Given the description of an element on the screen output the (x, y) to click on. 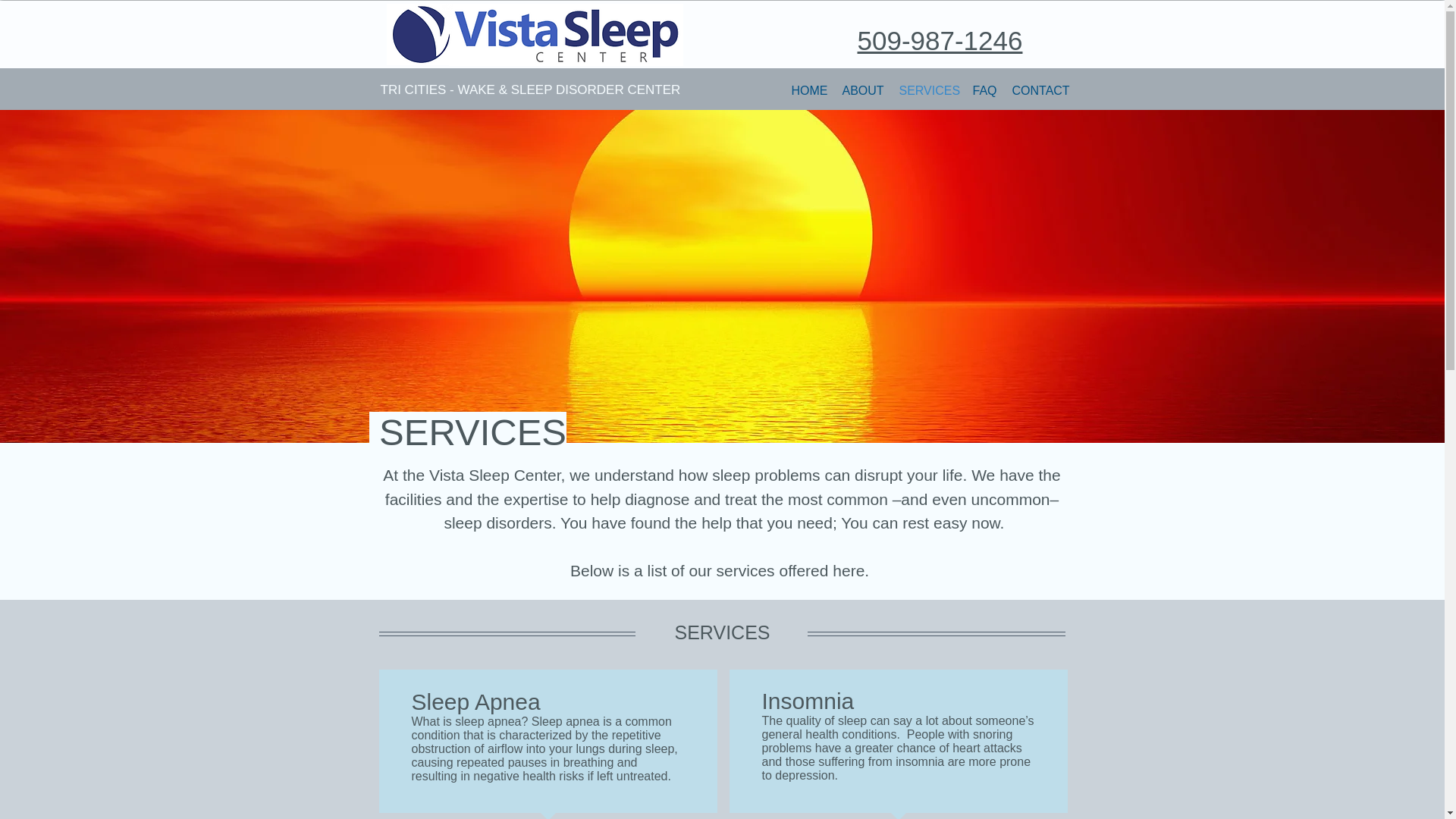
509-987-1246 (939, 40)
HOME (809, 89)
SERVICES (928, 89)
ABOUT (862, 89)
FAQ (983, 89)
CONTACT (1039, 89)
